Given the description of an element on the screen output the (x, y) to click on. 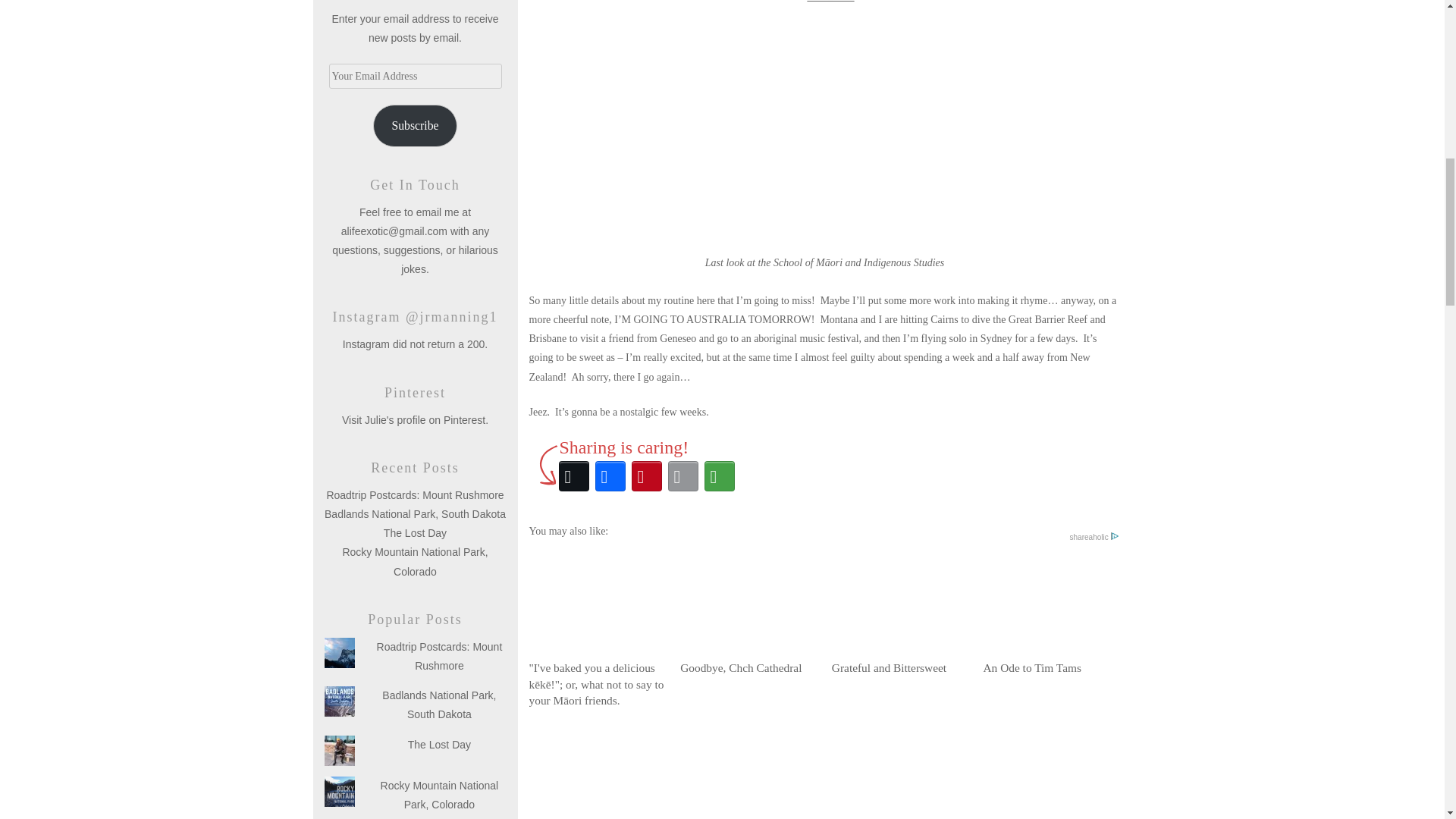
Pinterest (645, 475)
Email This (681, 475)
Goodbye, Chch Cathedral (747, 613)
Leavin' on a Jet Plane (899, 771)
And the Countdown Begins... (747, 771)
Grateful and Bittersweet (899, 613)
An Ode to Tim Tams (1050, 613)
Goodbye, Chch Cathedral (747, 613)
I'm Not There (597, 771)
More Options (718, 475)
I'm Not There (597, 771)
Facebook (609, 475)
Grateful and Bittersweet (899, 613)
shareaholic (1094, 537)
An Ode to Tim Tams (1050, 613)
